Given the description of an element on the screen output the (x, y) to click on. 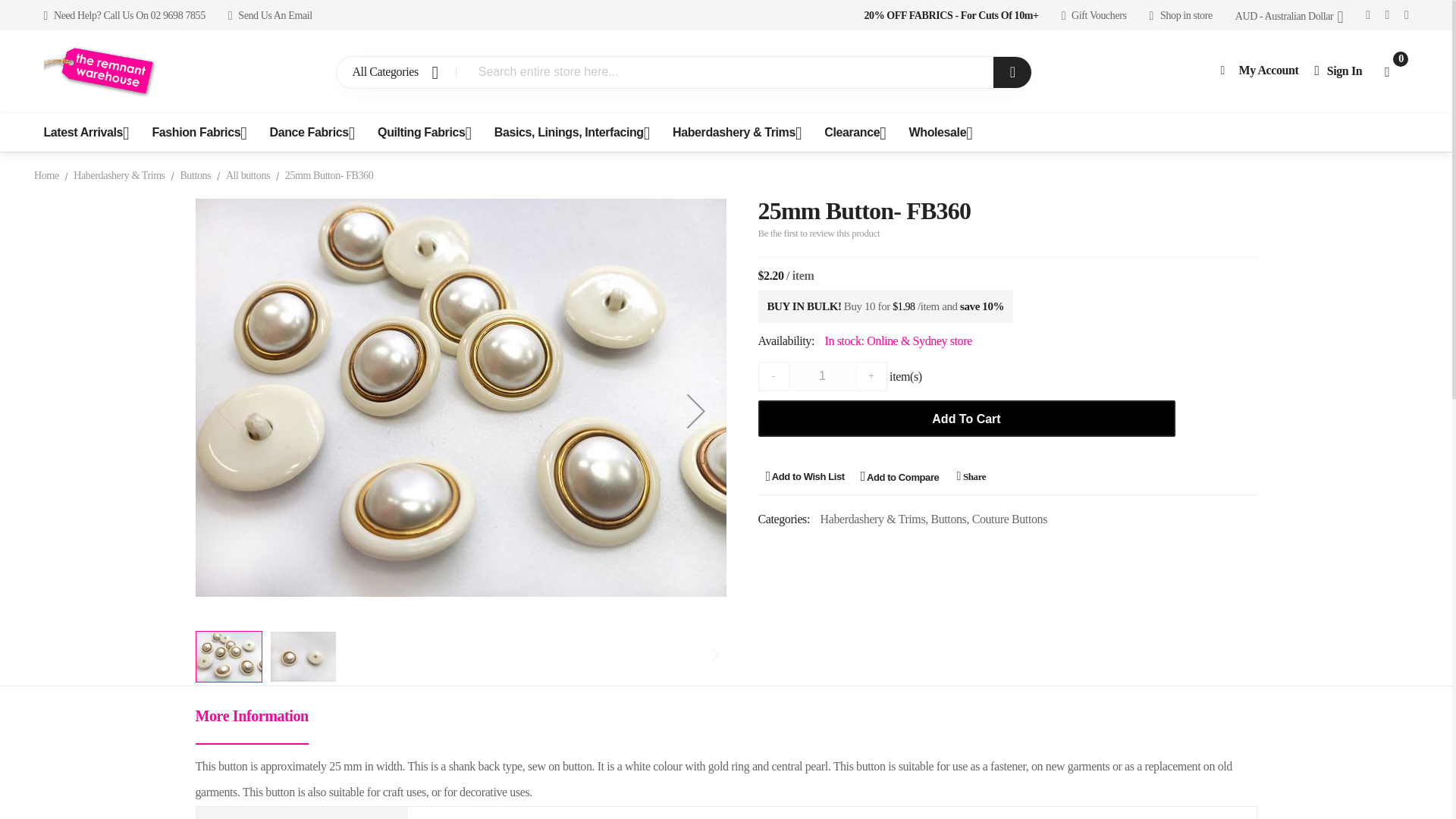
Sign In (1338, 69)
Go to Home Page (46, 174)
- (773, 375)
Search (1011, 71)
Latest Arrivals (86, 132)
Send Us An Email (270, 15)
Need Help? Call Us On 02 9698 7855 (124, 15)
Fashion Fabrics (194, 132)
Availability (1007, 341)
1 (823, 375)
The Remnant Warehouse Logo (101, 71)
My Account (1259, 69)
My Account (1259, 69)
Qty (823, 375)
All buttons (247, 174)
